Given the description of an element on the screen output the (x, y) to click on. 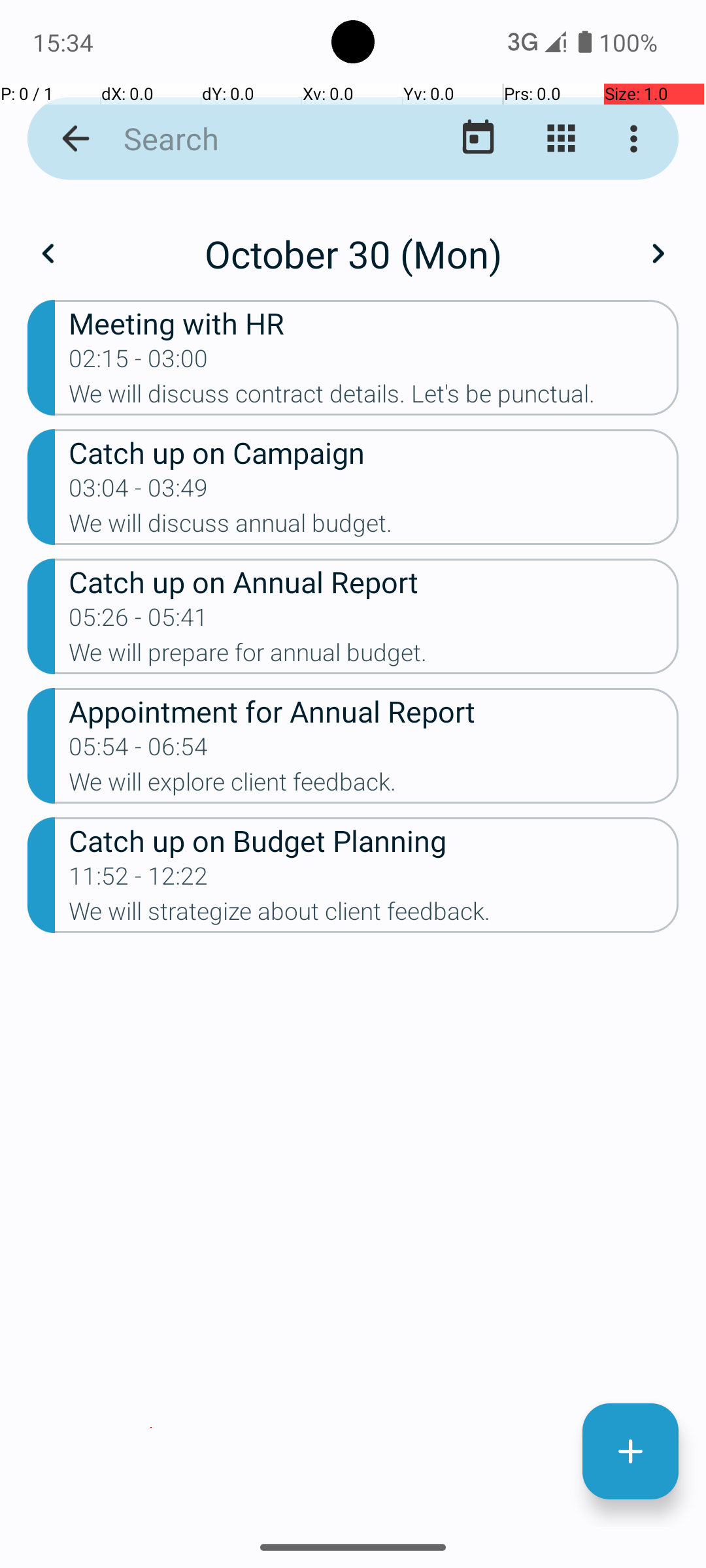
October 30 (Mon) Element type: android.widget.TextView (352, 253)
Meeting with HR Element type: android.widget.TextView (373, 321)
02:15 - 03:00 Element type: android.widget.TextView (137, 362)
We will discuss contract details. Let's be punctual. Element type: android.widget.TextView (373, 397)
Catch up on Campaign Element type: android.widget.TextView (373, 451)
03:04 - 03:49 Element type: android.widget.TextView (137, 491)
We will discuss annual budget. Element type: android.widget.TextView (373, 526)
05:26 - 05:41 Element type: android.widget.TextView (137, 620)
We will prepare for annual budget. Element type: android.widget.TextView (373, 656)
Appointment for Annual Report Element type: android.widget.TextView (373, 710)
05:54 - 06:54 Element type: android.widget.TextView (137, 750)
We will explore client feedback. Element type: android.widget.TextView (373, 785)
Catch up on Budget Planning Element type: android.widget.TextView (373, 839)
11:52 - 12:22 Element type: android.widget.TextView (137, 879)
We will strategize about client feedback. Element type: android.widget.TextView (373, 914)
